Given the description of an element on the screen output the (x, y) to click on. 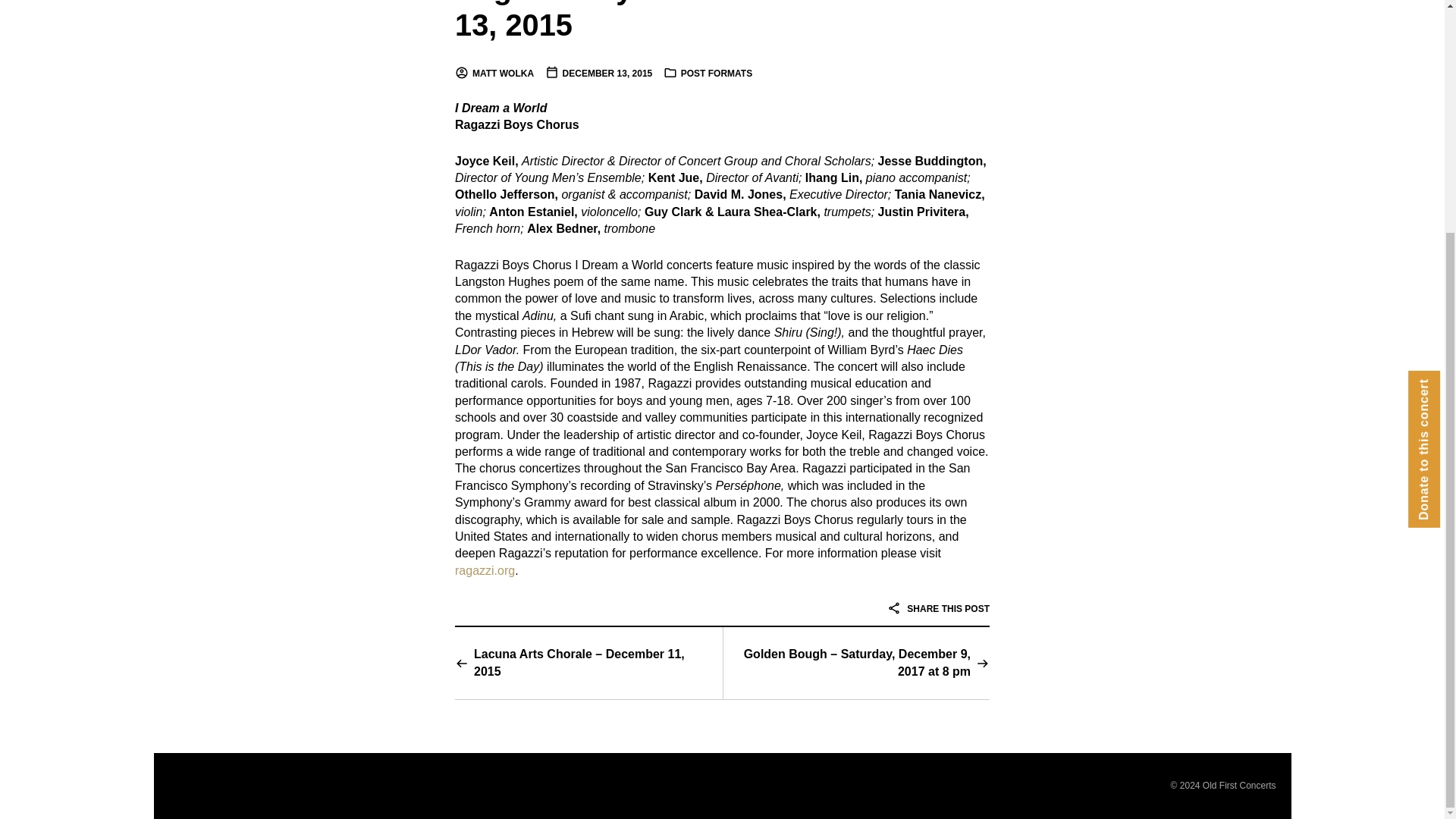
MATT WOLKA (494, 72)
View all posts by Matt Wolka (494, 72)
DECEMBER 13, 2015 (598, 72)
4:00 pm (598, 72)
POST FORMATS (716, 72)
